Given the description of an element on the screen output the (x, y) to click on. 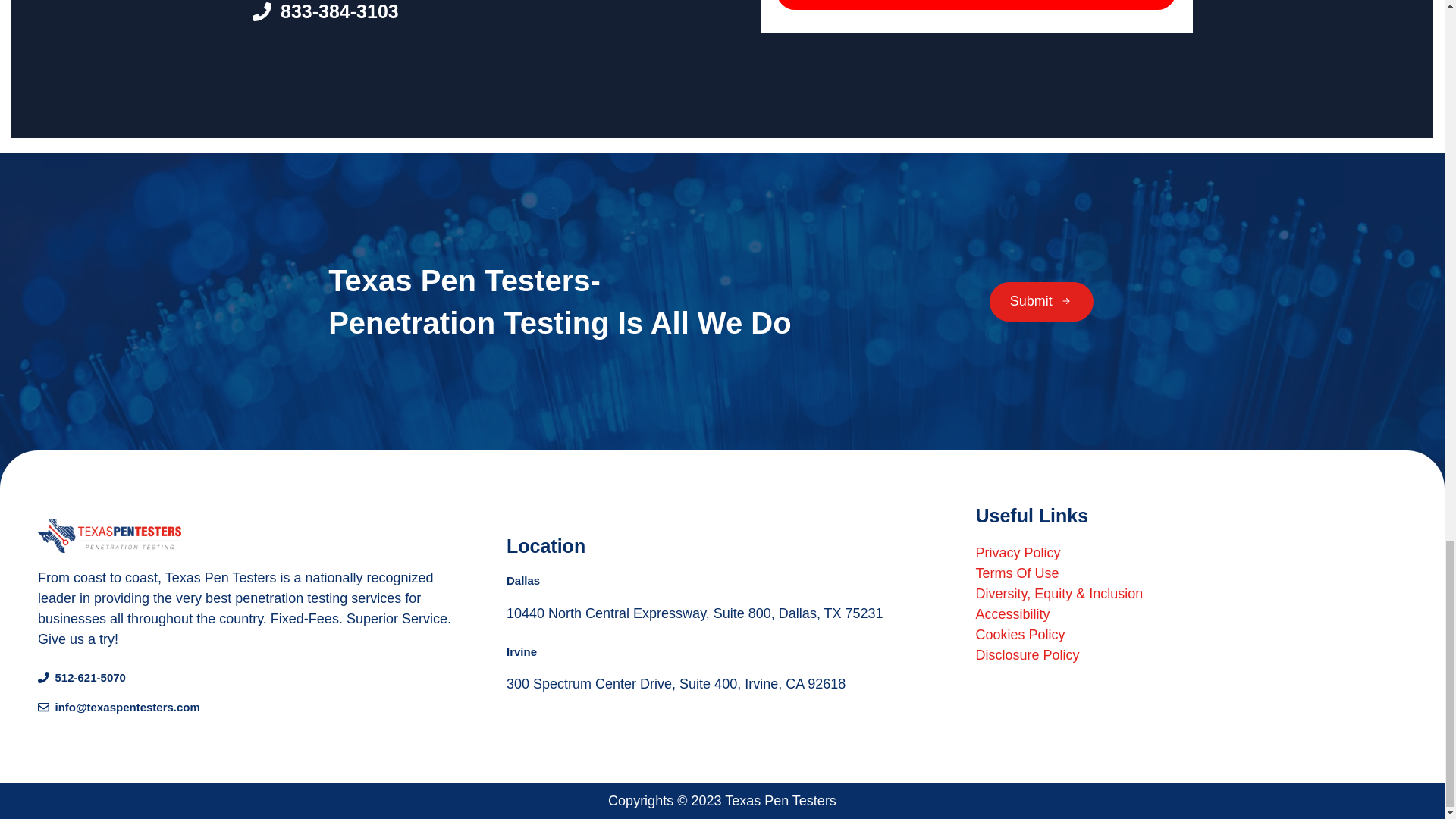
Submit Request (976, 4)
